Given the description of an element on the screen output the (x, y) to click on. 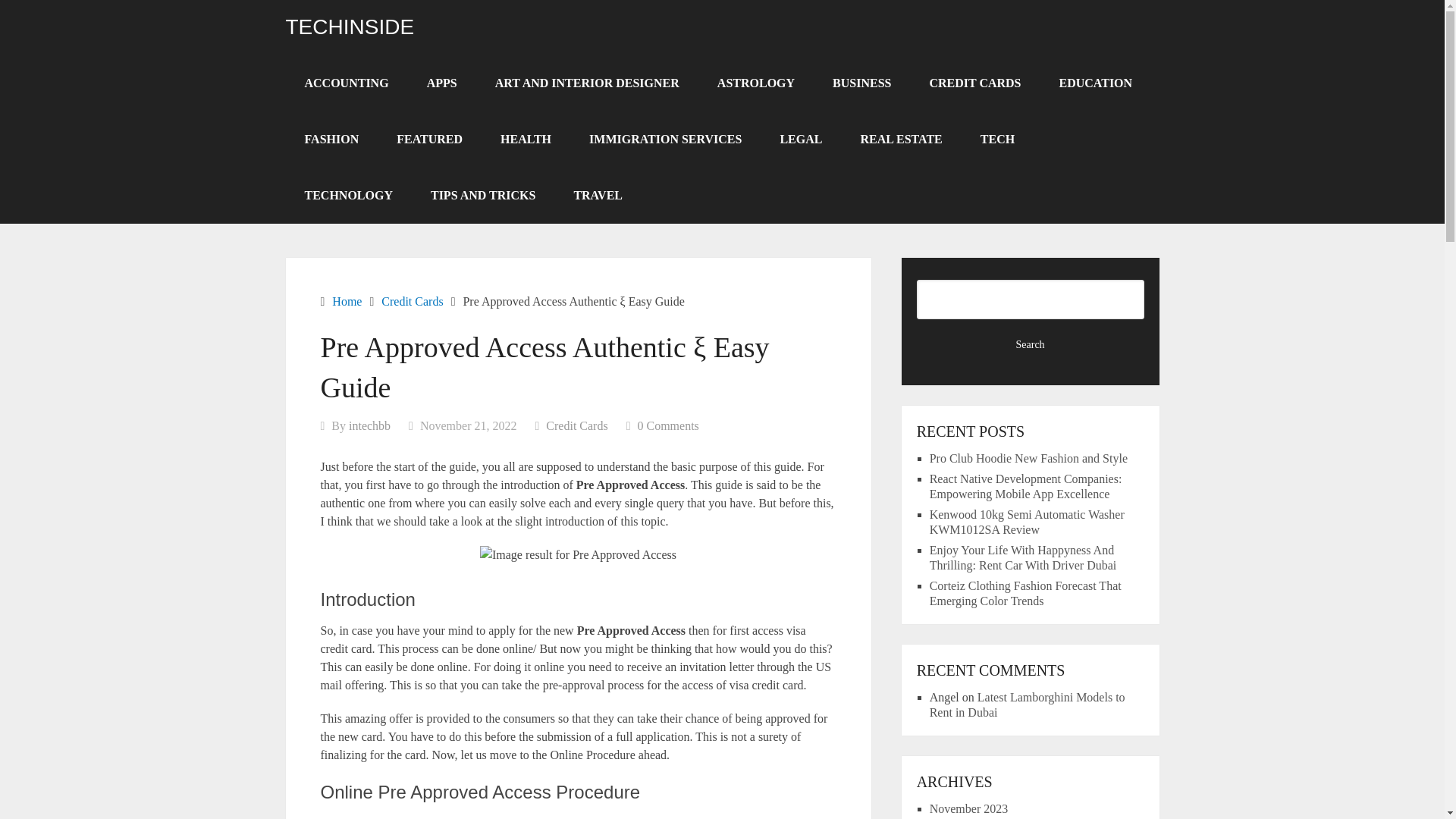
intechbb (369, 425)
TECHINSIDE (349, 26)
Credit Cards (576, 425)
REAL ESTATE (900, 139)
Search (1030, 344)
Pro Club Hoodie New Fashion and Style (1028, 458)
Corteiz Clothing Fashion Forecast That Emerging Color Trends (1025, 593)
0 Comments (667, 425)
Posts by intechbb (369, 425)
Kenwood 10kg Semi Automatic Washer KWM1012SA Review (1027, 521)
HEALTH (525, 139)
LEGAL (800, 139)
CREDIT CARDS (974, 83)
